Given the description of an element on the screen output the (x, y) to click on. 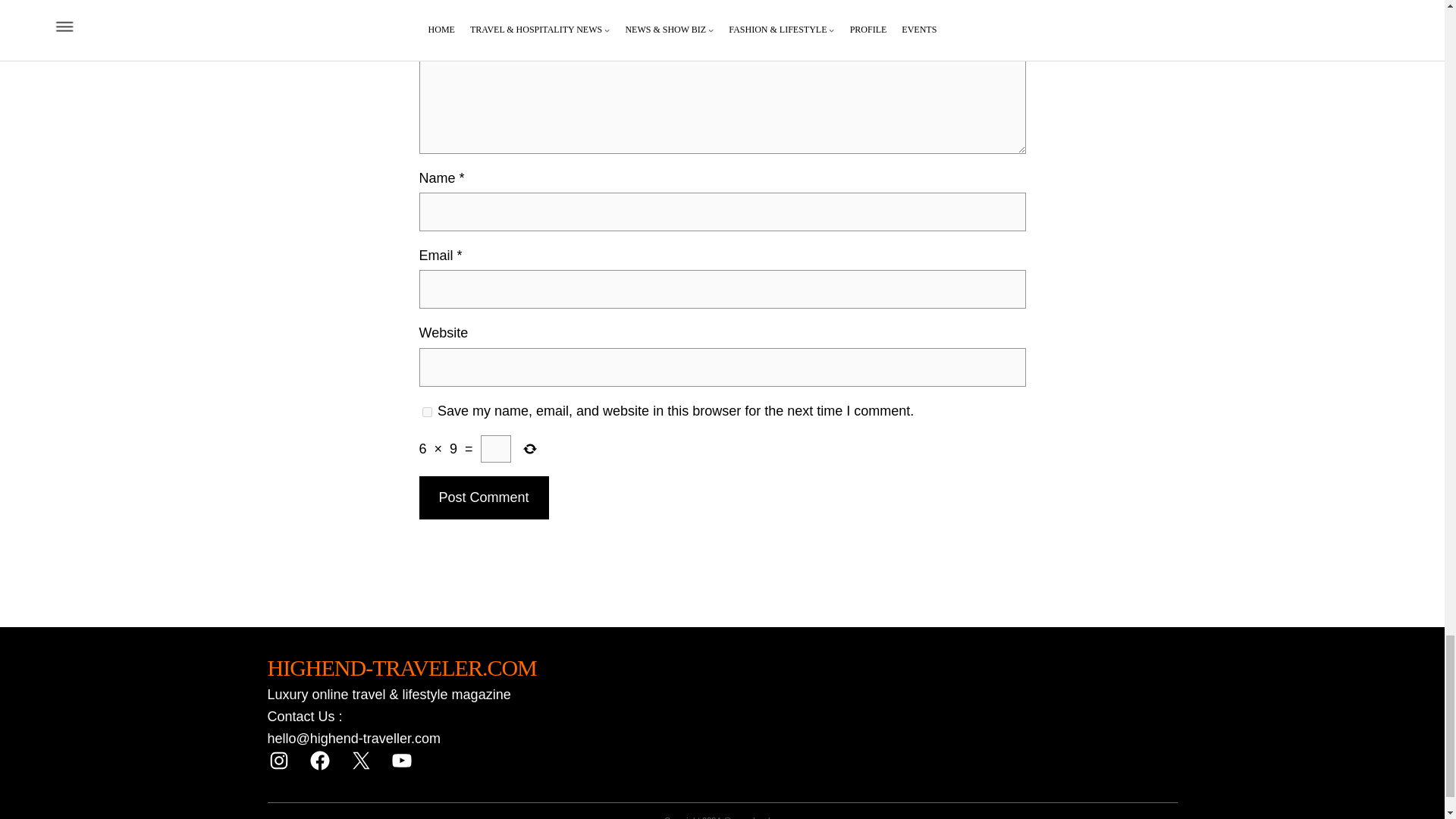
Post Comment (483, 497)
Post Comment (483, 497)
